Given the description of an element on the screen output the (x, y) to click on. 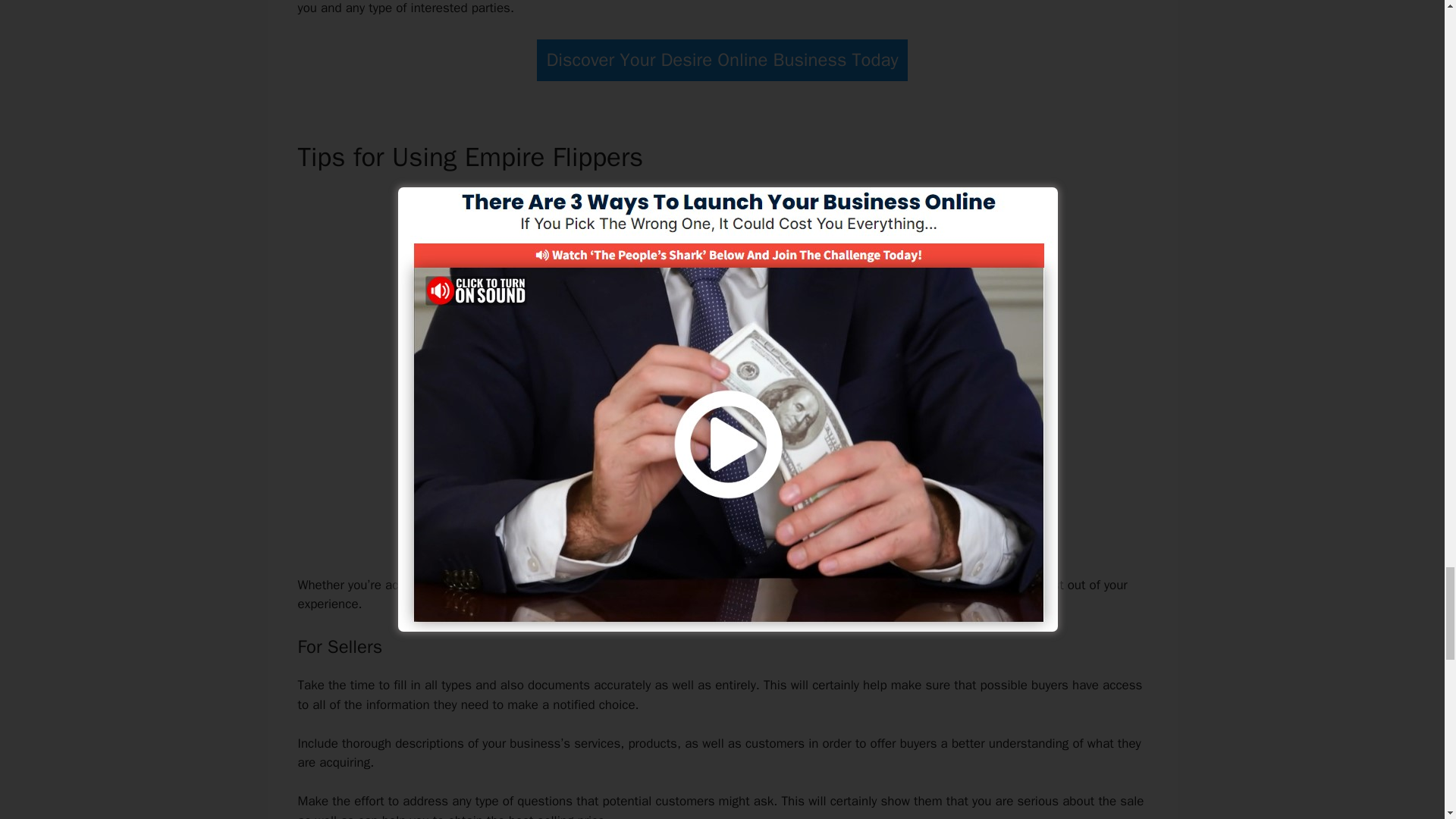
Discover Your Desire Online Business Today (722, 60)
